Given the description of an element on the screen output the (x, y) to click on. 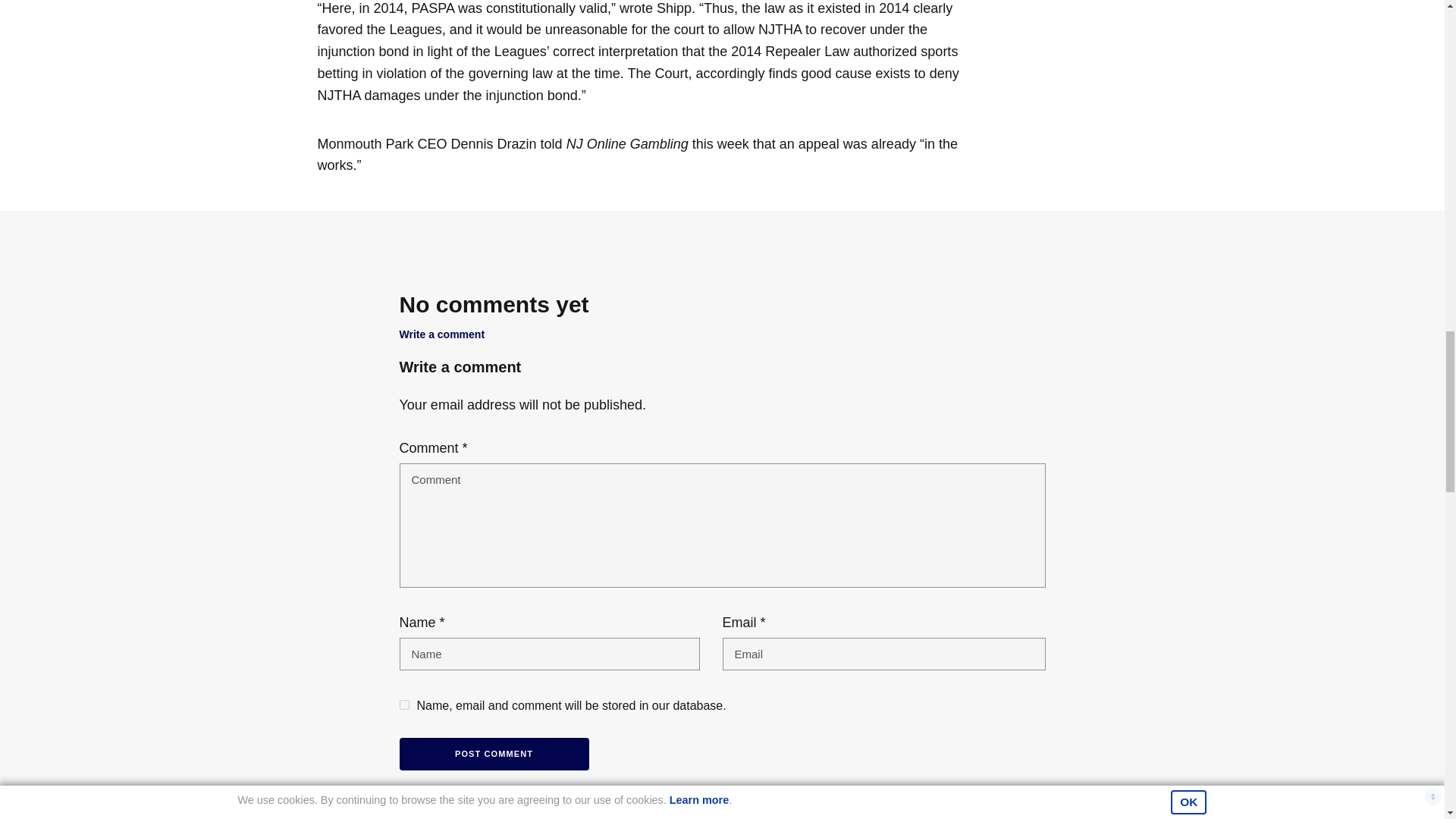
yes (403, 705)
Post Comment (493, 753)
